Given the description of an element on the screen output the (x, y) to click on. 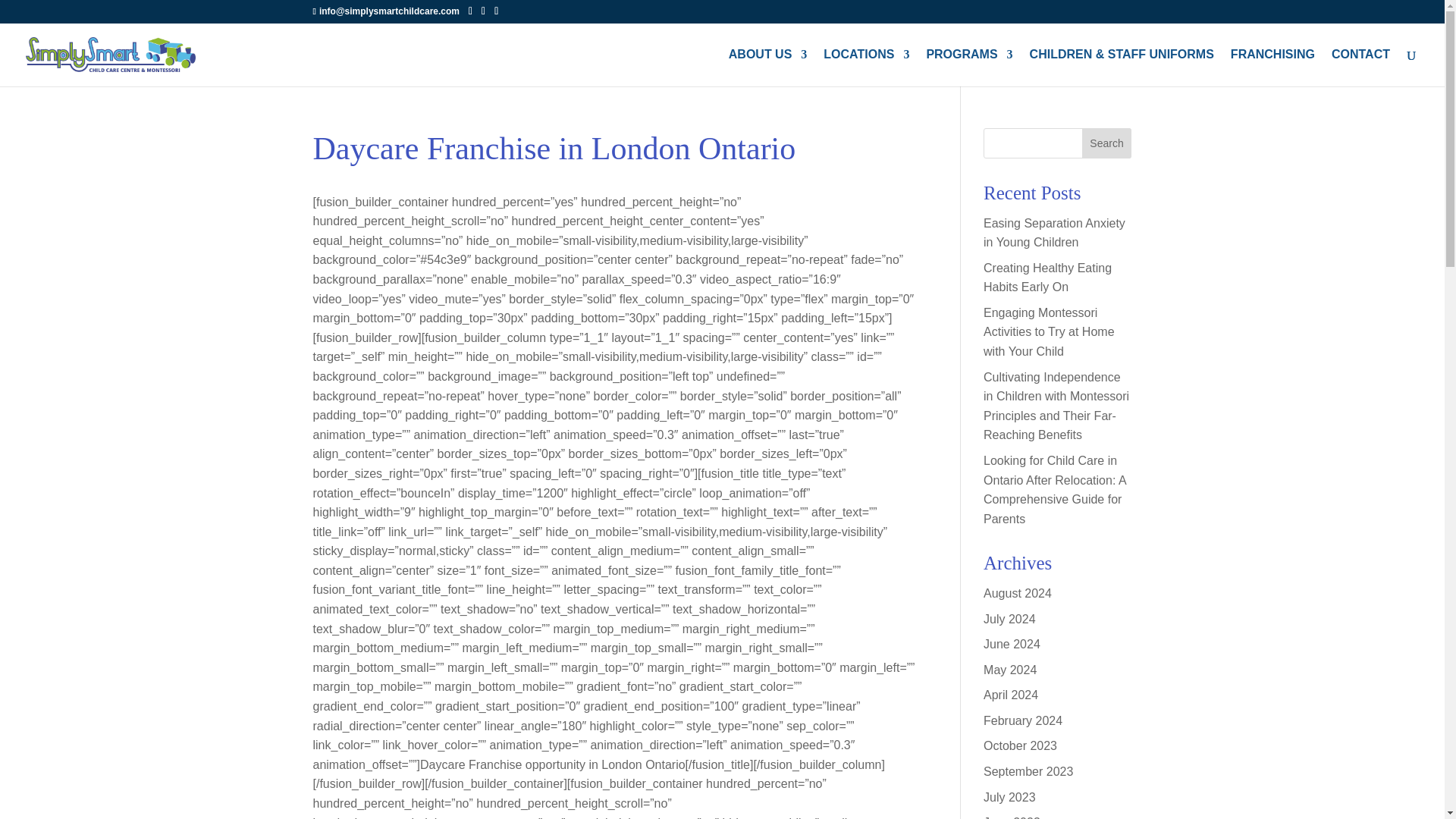
ABOUT US (768, 67)
LOCATIONS (866, 67)
PROGRAMS (968, 67)
CONTACT (1361, 67)
Search (1106, 142)
FRANCHISING (1272, 67)
